Given the description of an element on the screen output the (x, y) to click on. 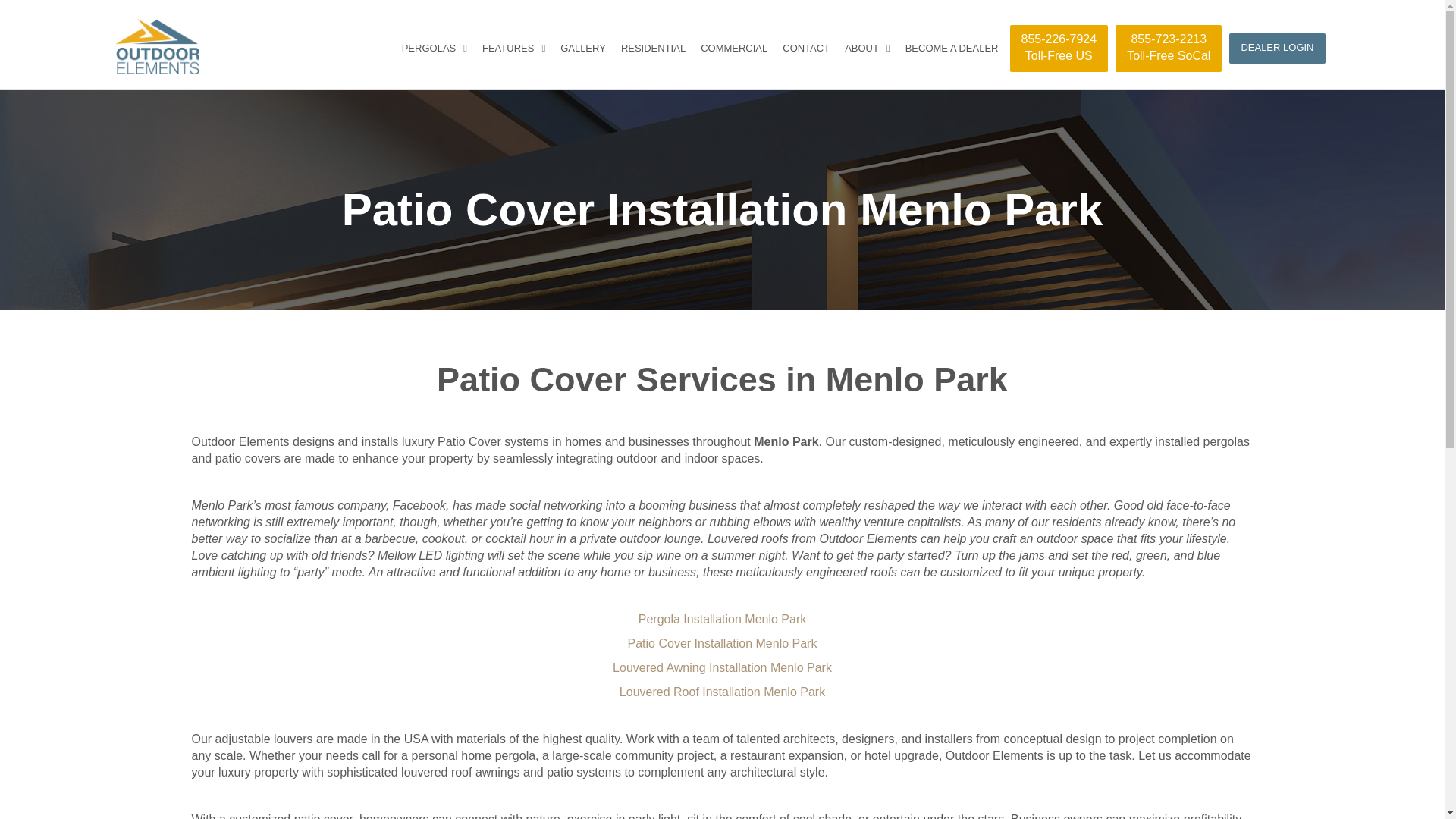
BECOME A DEALER (952, 48)
oe-logo (156, 46)
FEATURES (513, 48)
COMMERCIAL (734, 48)
RESIDENTIAL (652, 48)
GALLERY (583, 48)
DEALER LOGIN (1276, 48)
CONTACT (1168, 48)
